Given the description of an element on the screen output the (x, y) to click on. 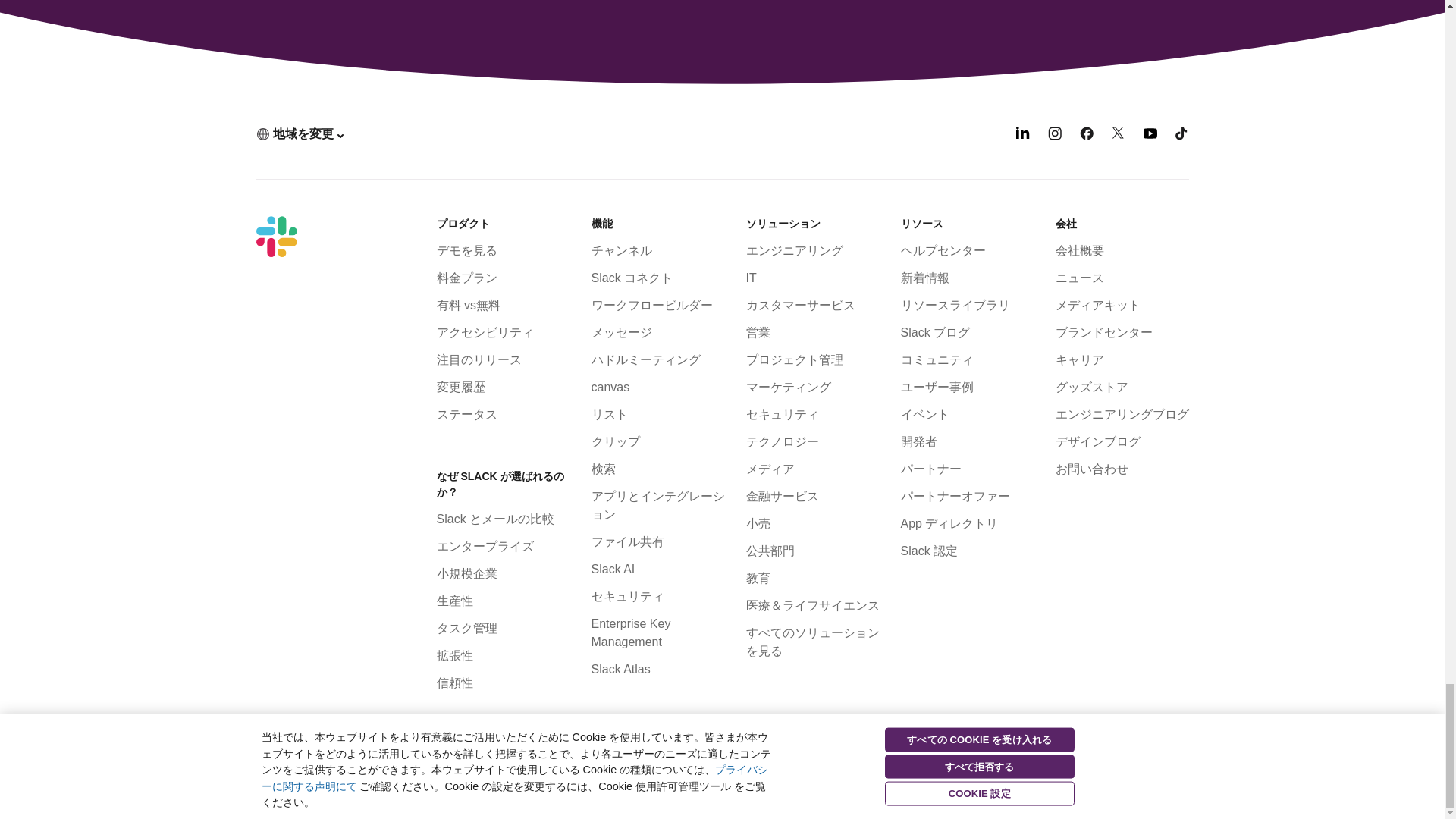
Facebook (1086, 135)
Instagram (1054, 135)
YouTube (1149, 135)
Slack (276, 236)
LinkedIn (1022, 135)
TikTok (1181, 135)
X (1118, 135)
